Given the description of an element on the screen output the (x, y) to click on. 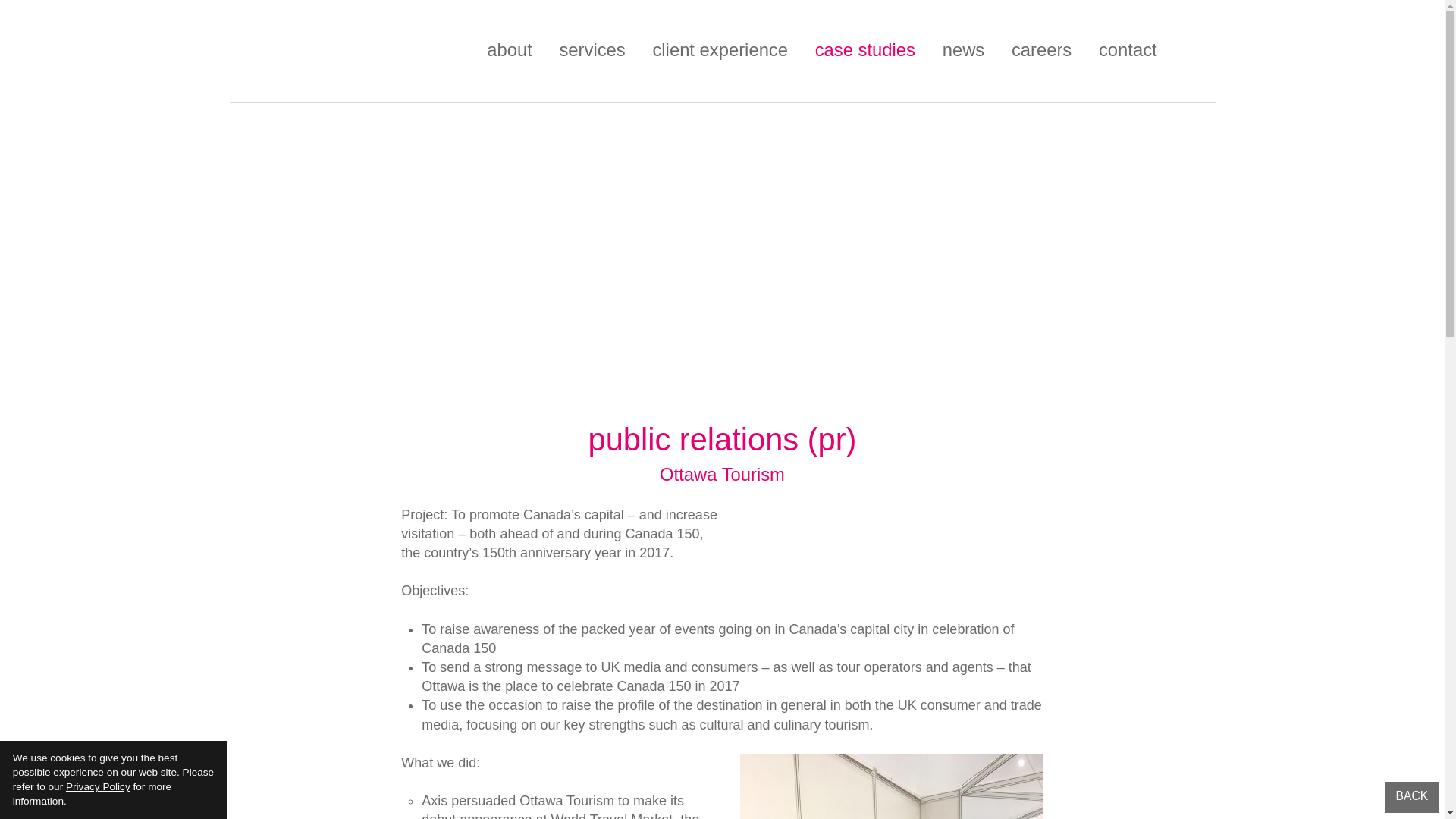
client experience (719, 49)
services (591, 49)
BACK (1412, 797)
SKIP TO MAIN CONTENT (20, 14)
case studies (865, 49)
contact (1128, 49)
careers (1041, 49)
news (963, 49)
about (509, 49)
Privacy Policy (98, 786)
